Given the description of an element on the screen output the (x, y) to click on. 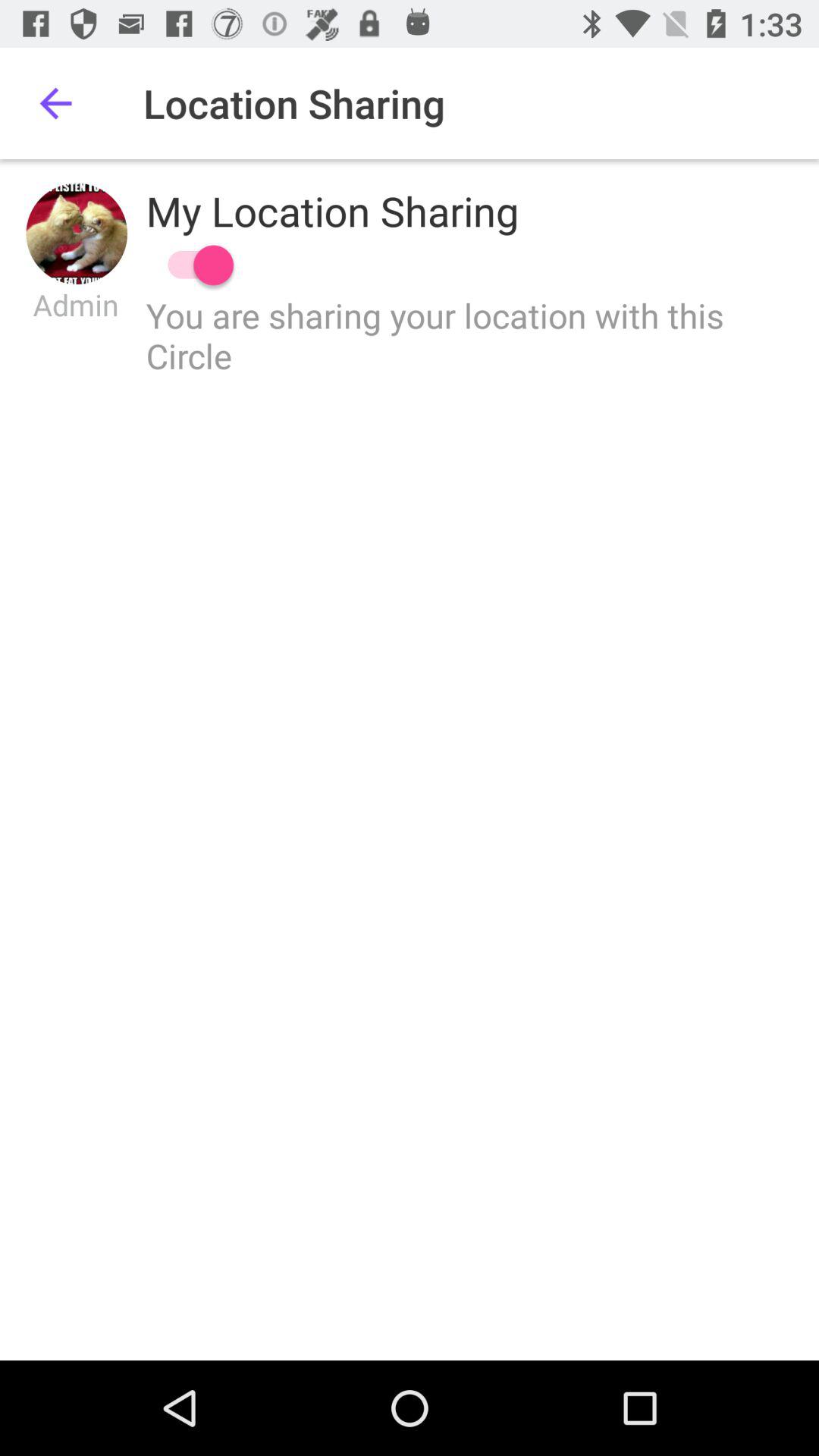
toggle location sharing (193, 265)
